Given the description of an element on the screen output the (x, y) to click on. 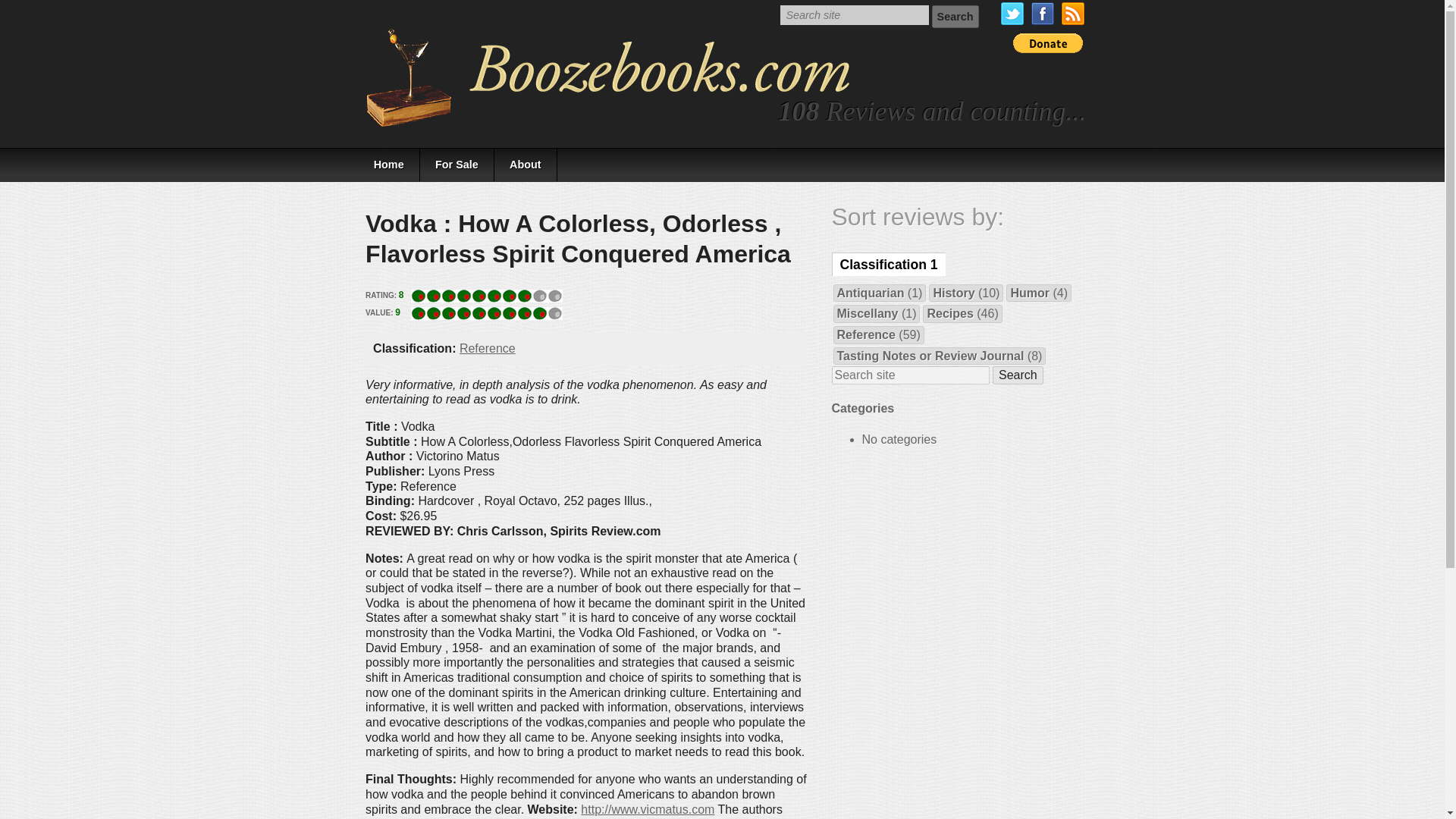
Recipes (949, 313)
Miscellany (867, 313)
Search (1017, 375)
Reference (487, 348)
Home (388, 164)
Reference (866, 334)
Search (954, 15)
History (953, 292)
Search (954, 15)
Antiquarian (870, 292)
Follow us on Twitter (1012, 13)
Tasting Notes or Review Journal (931, 355)
Search (1017, 375)
About (526, 164)
Classification 1 (887, 264)
